Given the description of an element on the screen output the (x, y) to click on. 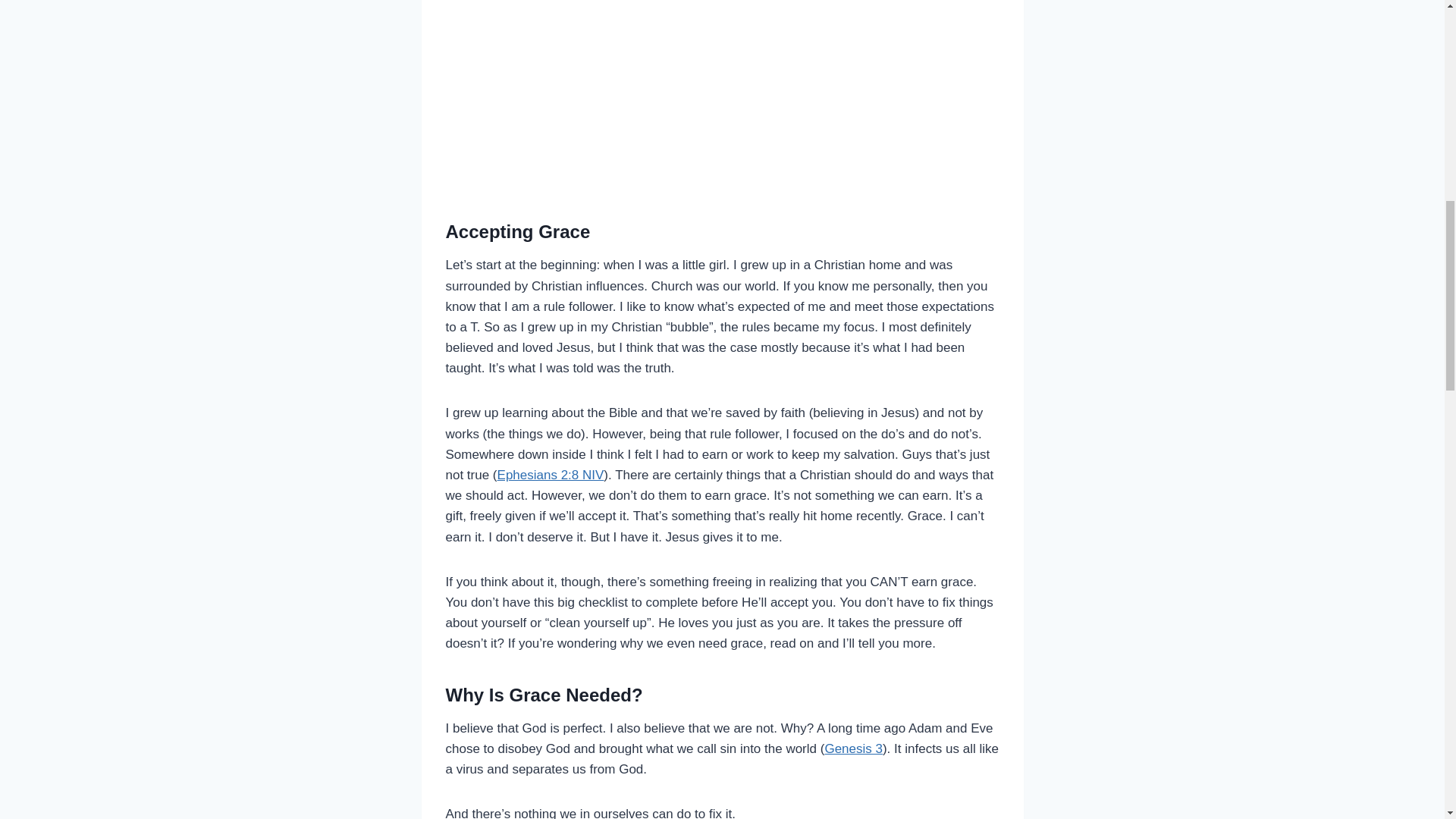
Genesis 3 (853, 748)
Ephesians 2:8 NIV (550, 474)
